Given the description of an element on the screen output the (x, y) to click on. 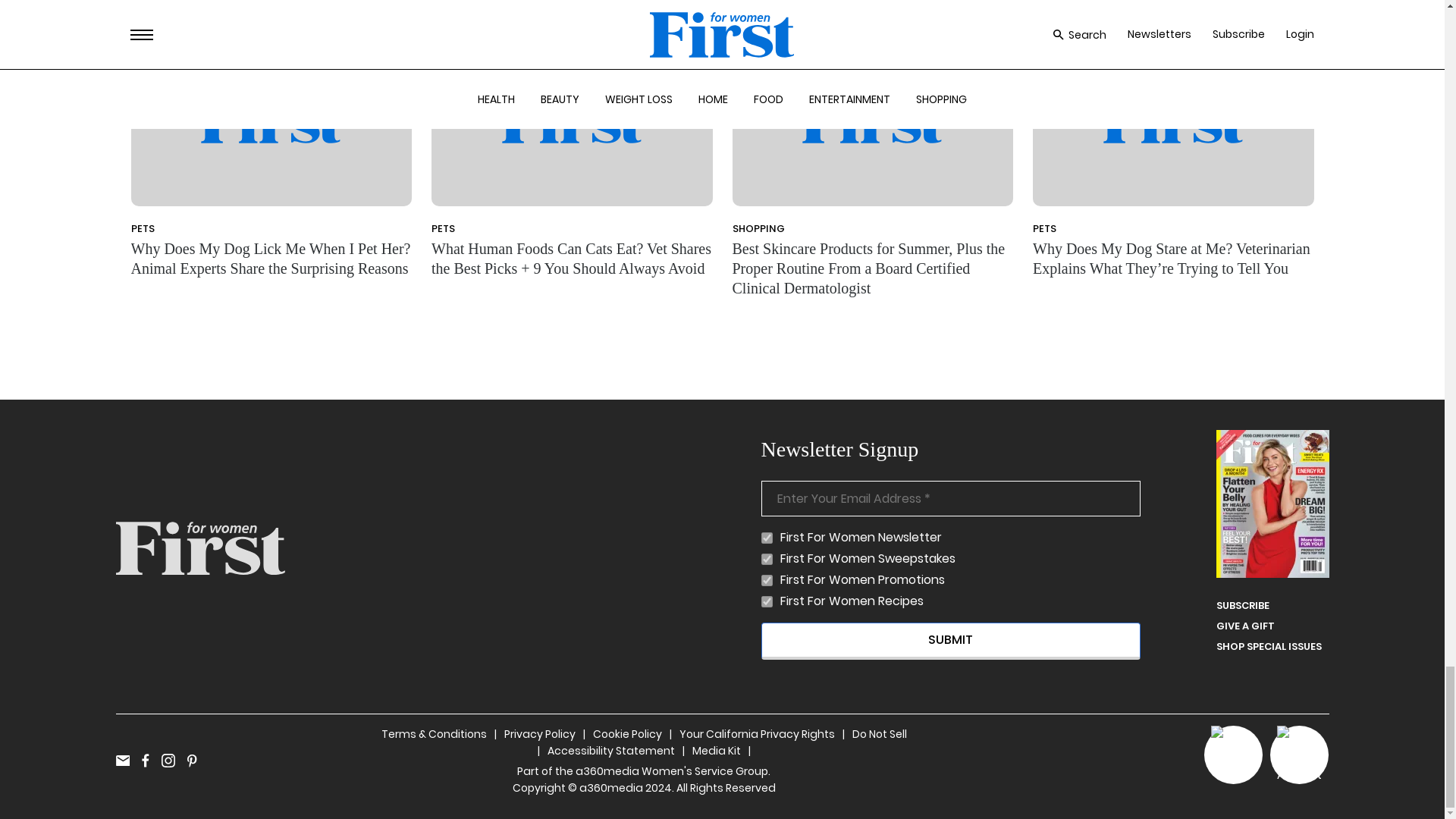
1 (767, 537)
1 (767, 559)
1 (767, 601)
1 (767, 580)
